Given the description of an element on the screen output the (x, y) to click on. 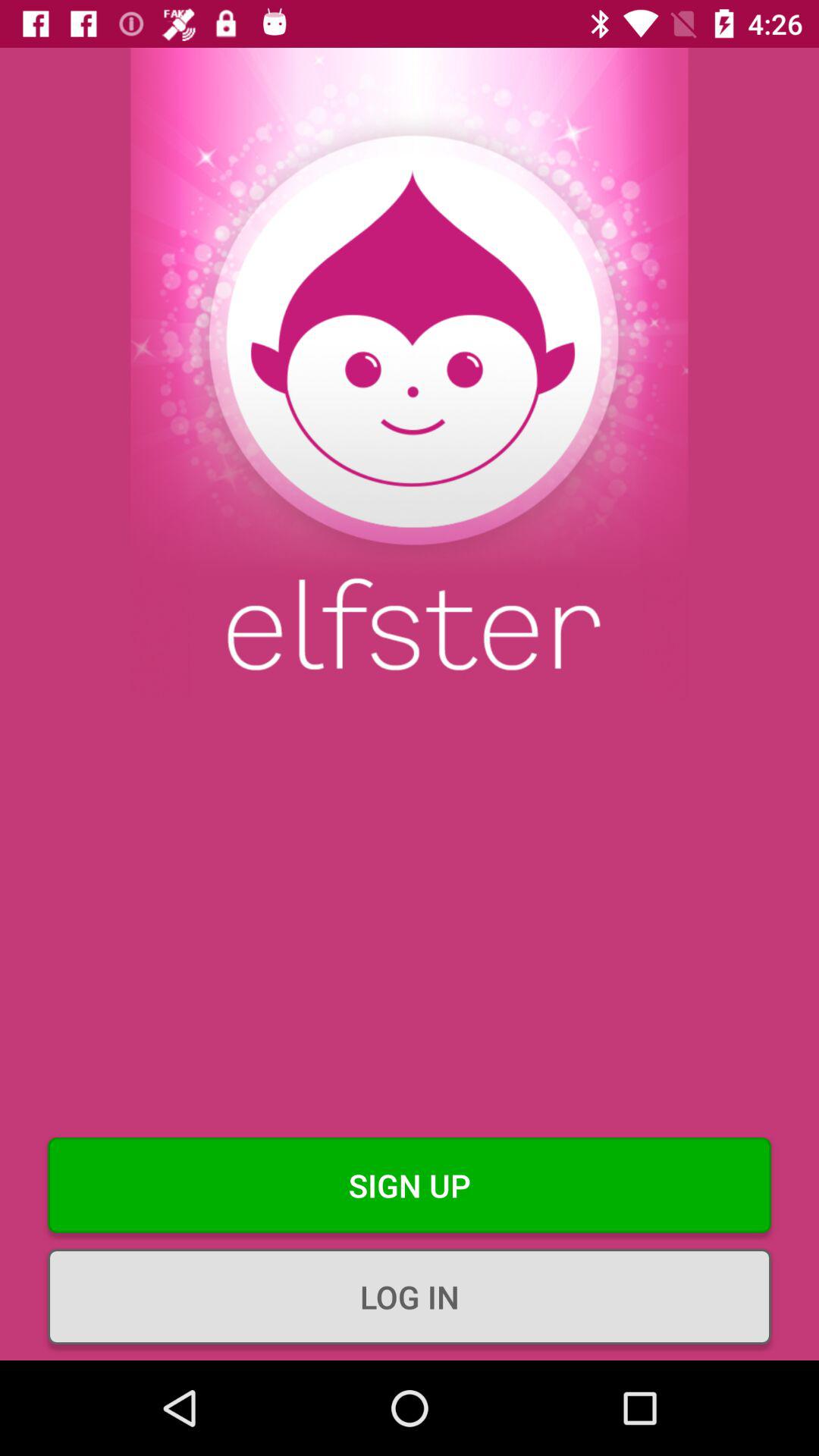
launch item below sign up (409, 1296)
